Given the description of an element on the screen output the (x, y) to click on. 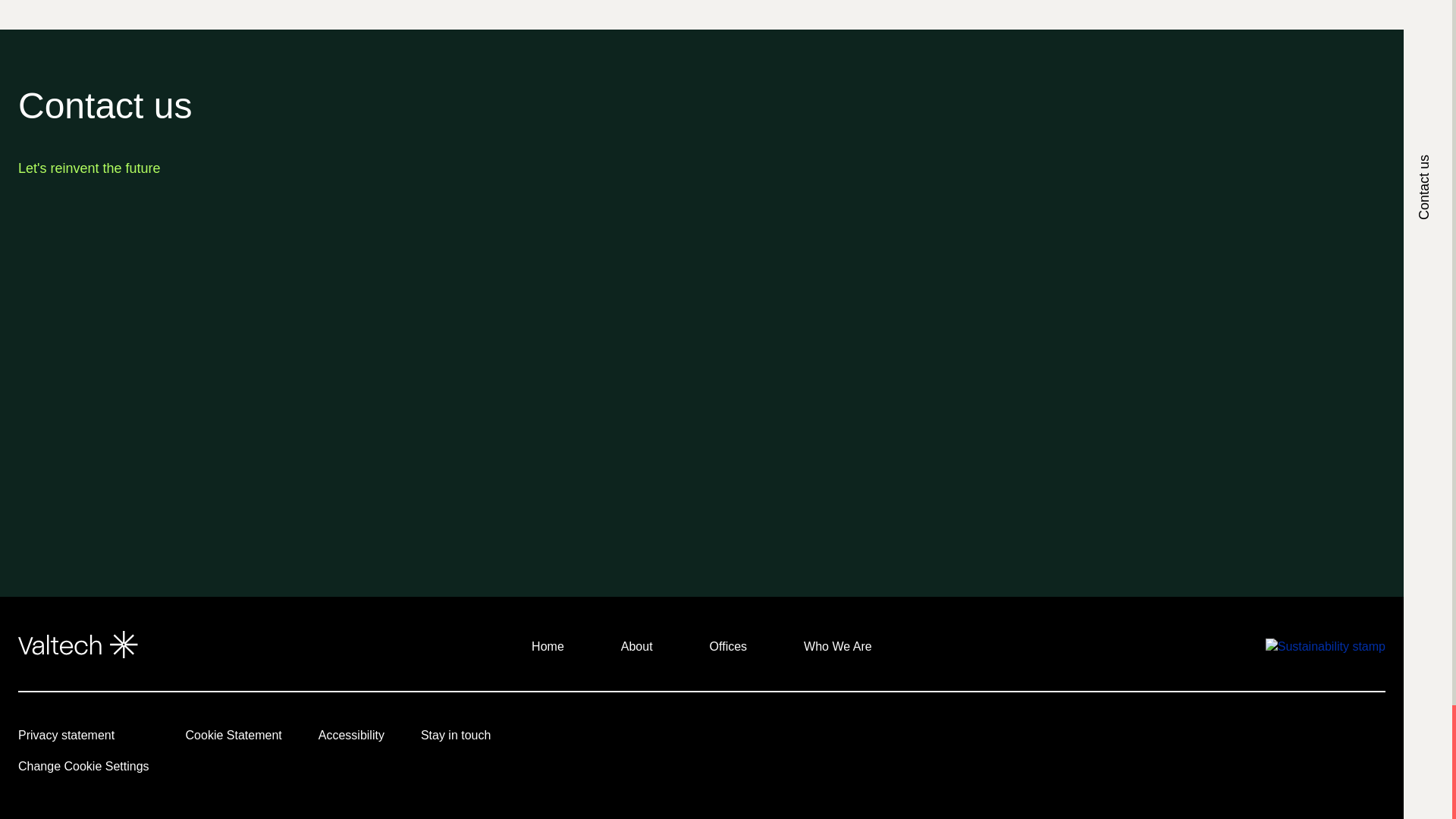
YouTube (1101, 739)
LinkedIn (1059, 739)
Spotify (1269, 739)
Sound Cloud (1310, 739)
Instagram (1144, 739)
Valtech Logo (77, 644)
Twitter (1184, 739)
Apple Podcasts (1352, 739)
Google Podcasts (1227, 739)
Sustainability stamp link (1325, 645)
